Given the description of an element on the screen output the (x, y) to click on. 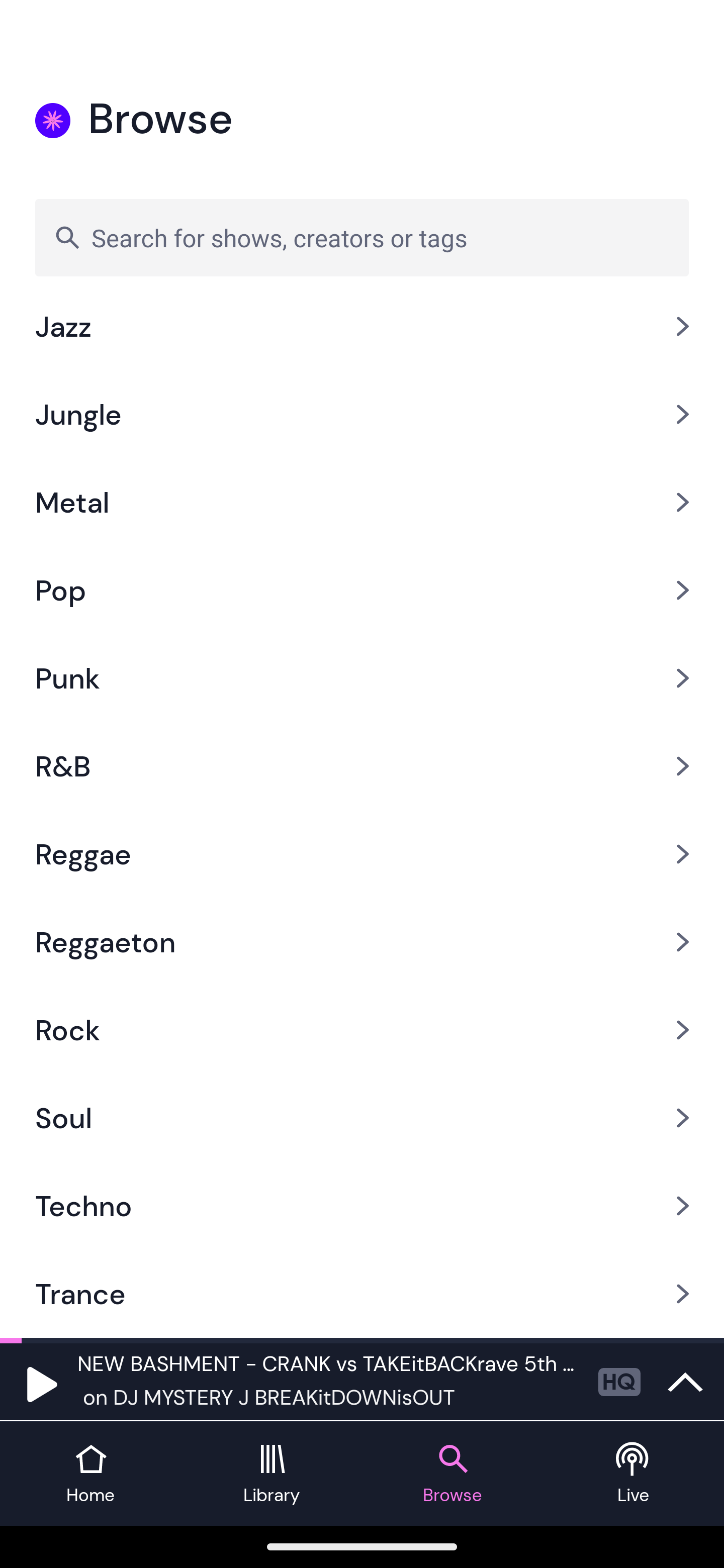
Search for shows, creators or tags (361, 237)
Jazz (361, 336)
Jungle (361, 413)
Metal (361, 501)
Pop (361, 589)
Punk (361, 677)
R&B (361, 766)
Reggae (361, 854)
Reggaeton (361, 942)
Rock (361, 1030)
Soul (361, 1117)
Techno (361, 1205)
Trance (361, 1293)
Home tab Home (90, 1473)
Library tab Library (271, 1473)
Browse tab Browse (452, 1473)
Live tab Live (633, 1473)
